Given the description of an element on the screen output the (x, y) to click on. 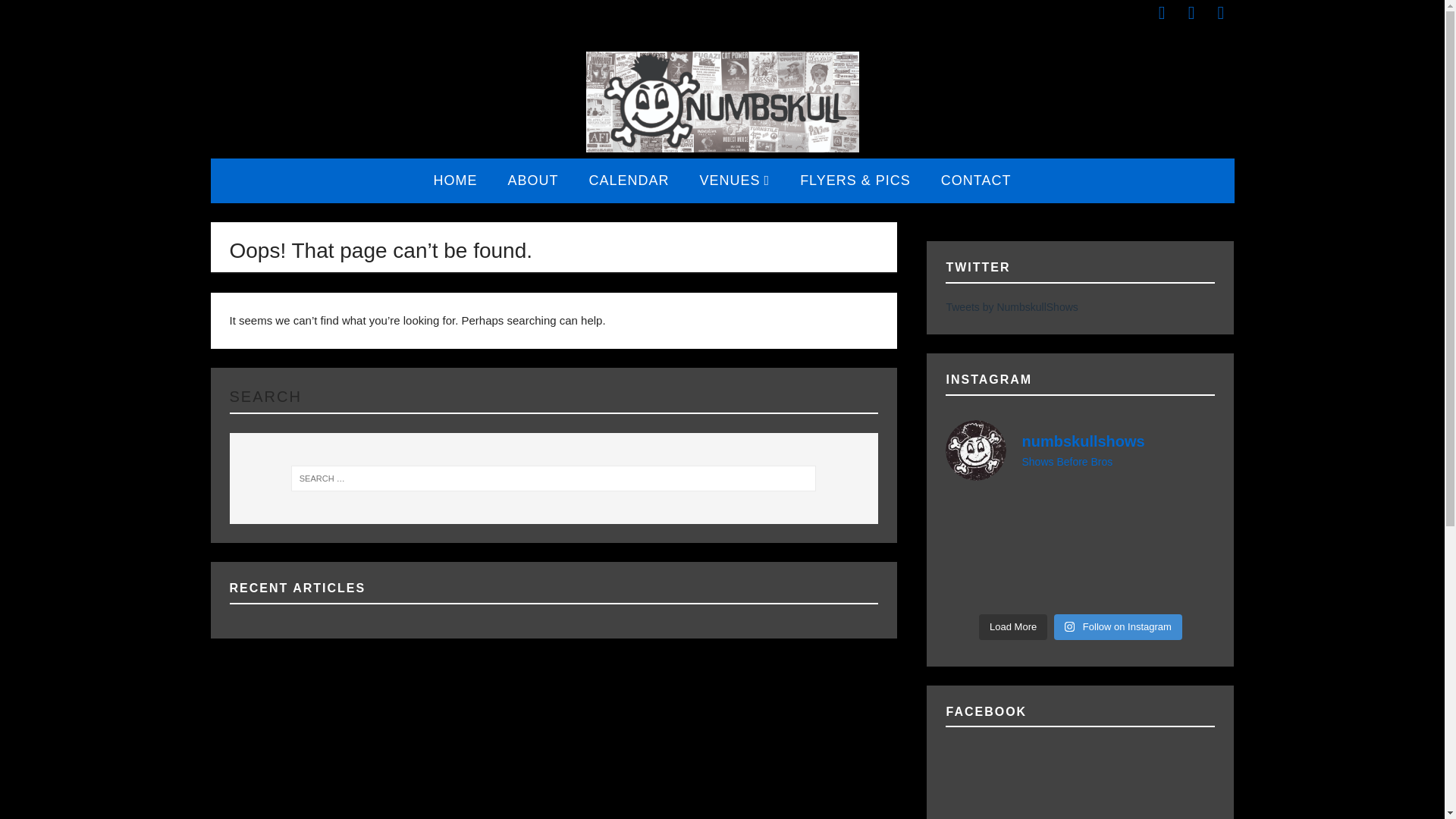
VENUES (735, 180)
Load More (1012, 626)
Search (37, 11)
CONTACT (976, 180)
CALENDAR (628, 180)
HOME (454, 180)
ABOUT (532, 180)
Tweets by NumbskullShows (1010, 306)
Follow on Instagram (1118, 626)
